Given the description of an element on the screen output the (x, y) to click on. 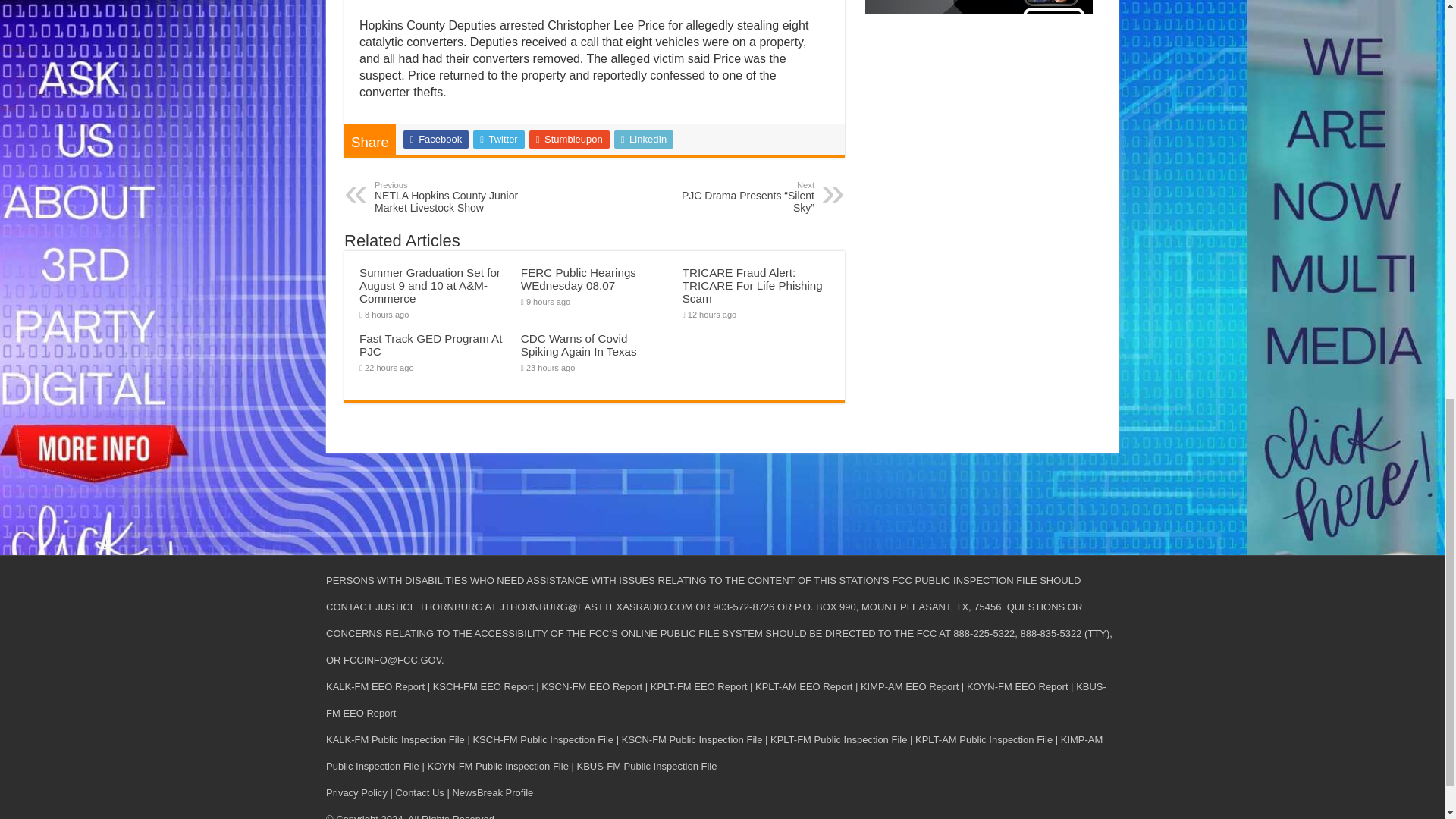
Scroll To Top (1421, 60)
